Given the description of an element on the screen output the (x, y) to click on. 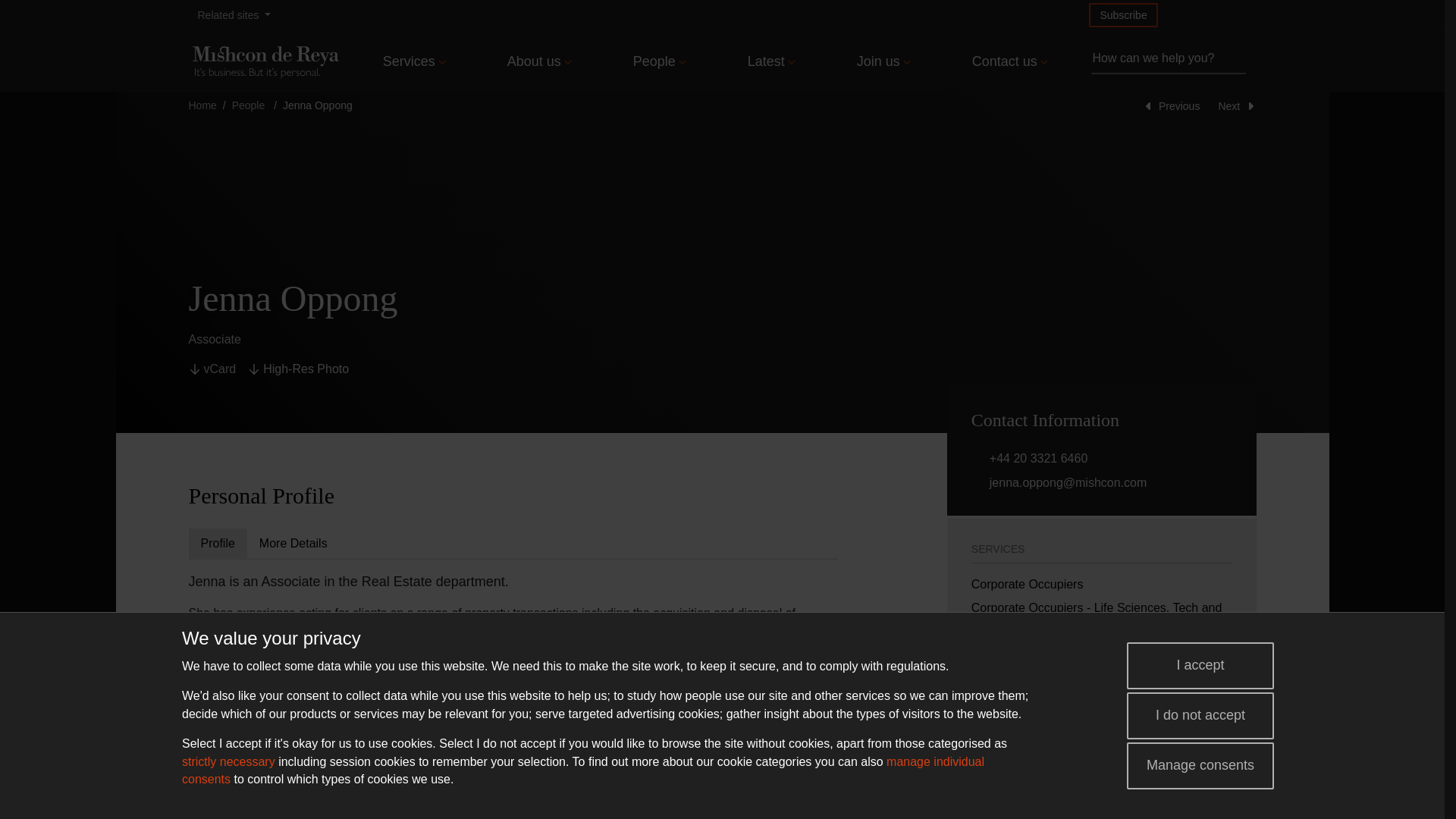
Subscribe (1123, 15)
Related sites (233, 14)
Subscribe (1123, 15)
Services (414, 61)
